Given the description of an element on the screen output the (x, y) to click on. 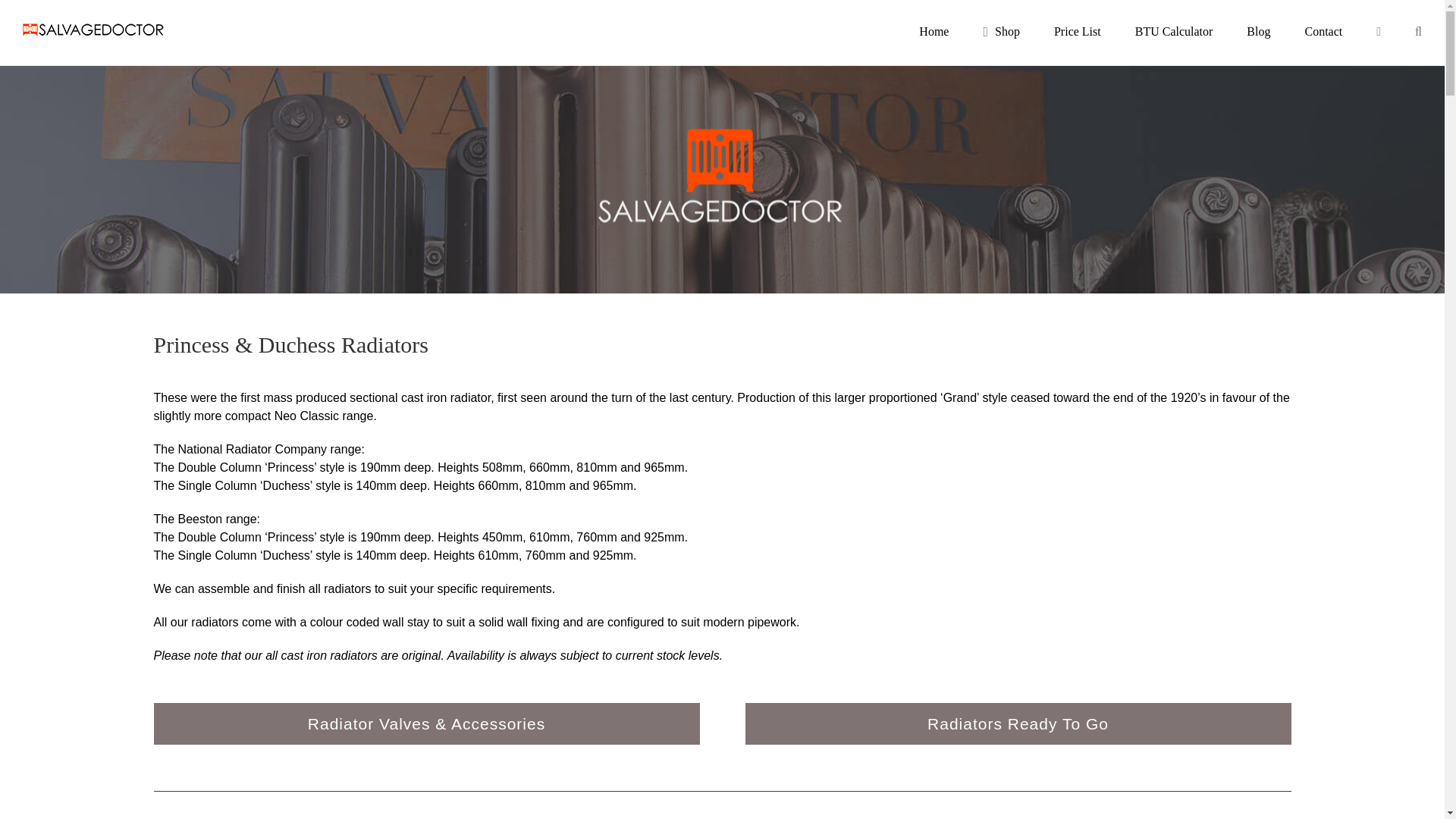
Radiators Ready To Go (1017, 723)
BTU Calculator (1173, 31)
